Given the description of an element on the screen output the (x, y) to click on. 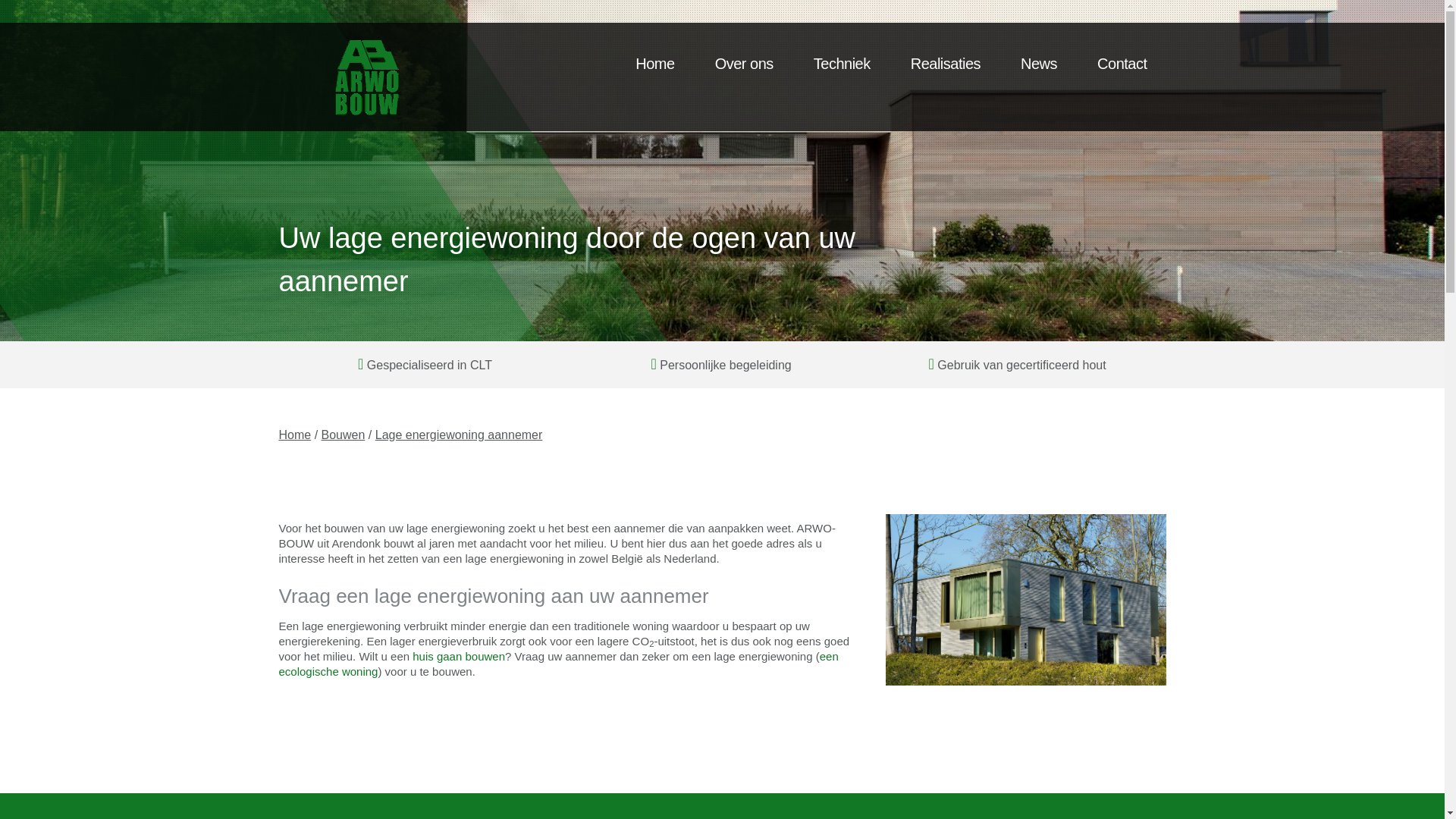
Home Element type: text (654, 64)
Contact Element type: text (1121, 64)
een ecologische woning Element type: text (558, 663)
Techniek Element type: text (841, 64)
huis gaan bouwen Element type: text (458, 655)
Over ons Element type: text (744, 64)
Lage energiewoning aannemer Element type: text (458, 434)
News Element type: text (1038, 64)
Home Element type: text (295, 434)
Bouwen Element type: text (343, 434)
Realisaties Element type: text (945, 64)
